Given the description of an element on the screen output the (x, y) to click on. 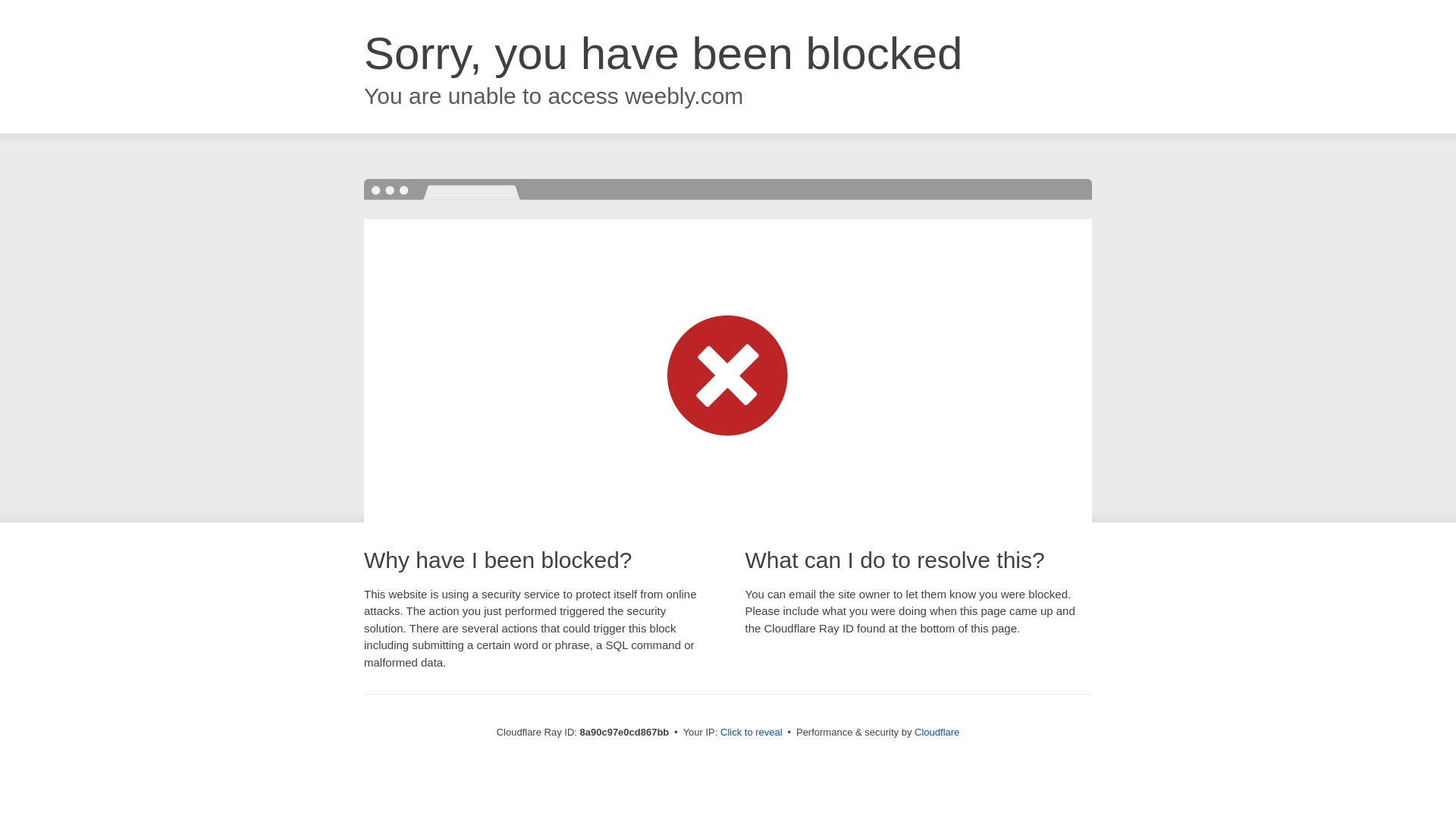
Click to reveal (751, 732)
Cloudflare (936, 731)
